Given the description of an element on the screen output the (x, y) to click on. 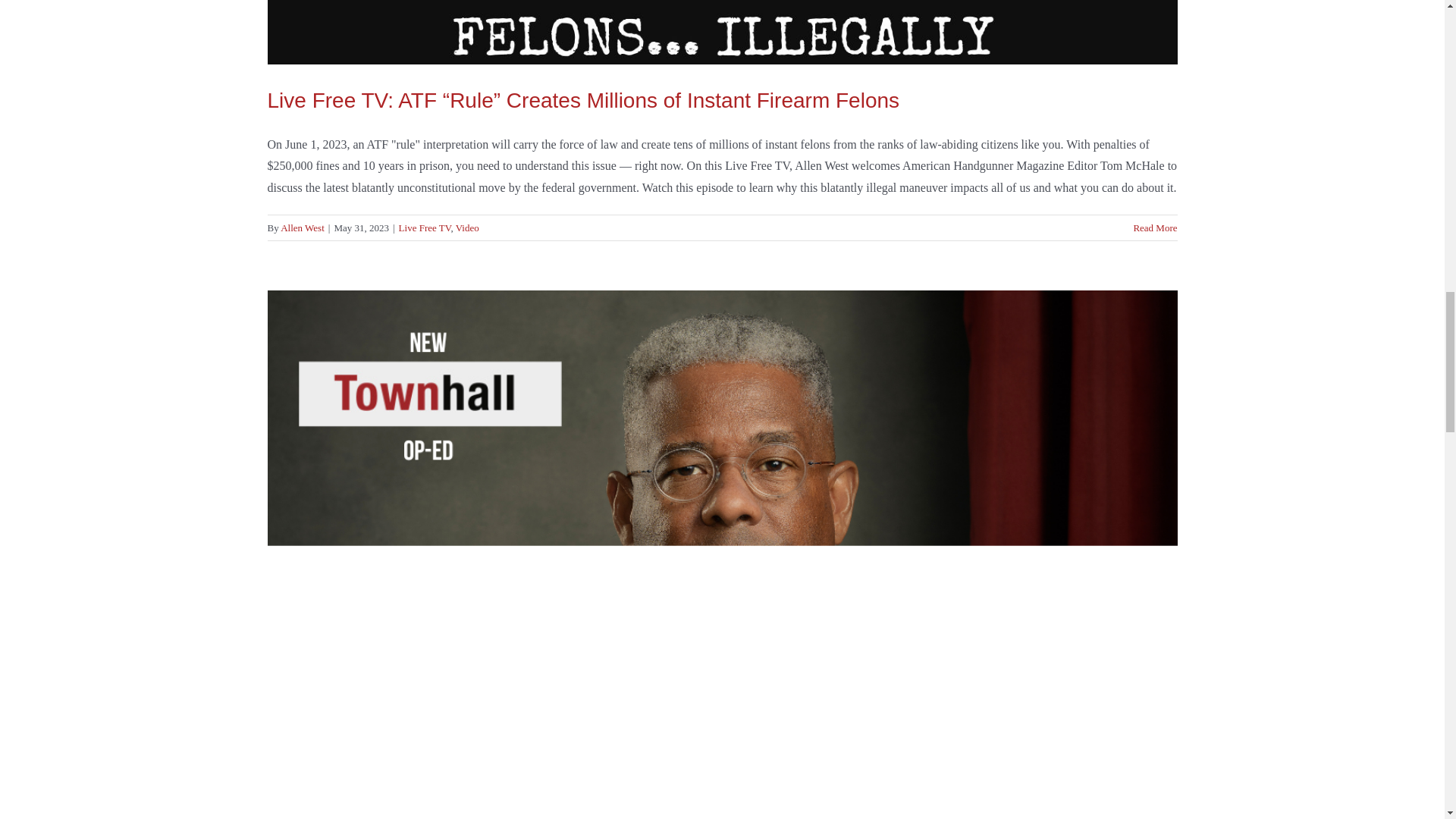
Posts by Allen West (302, 227)
